Given the description of an element on the screen output the (x, y) to click on. 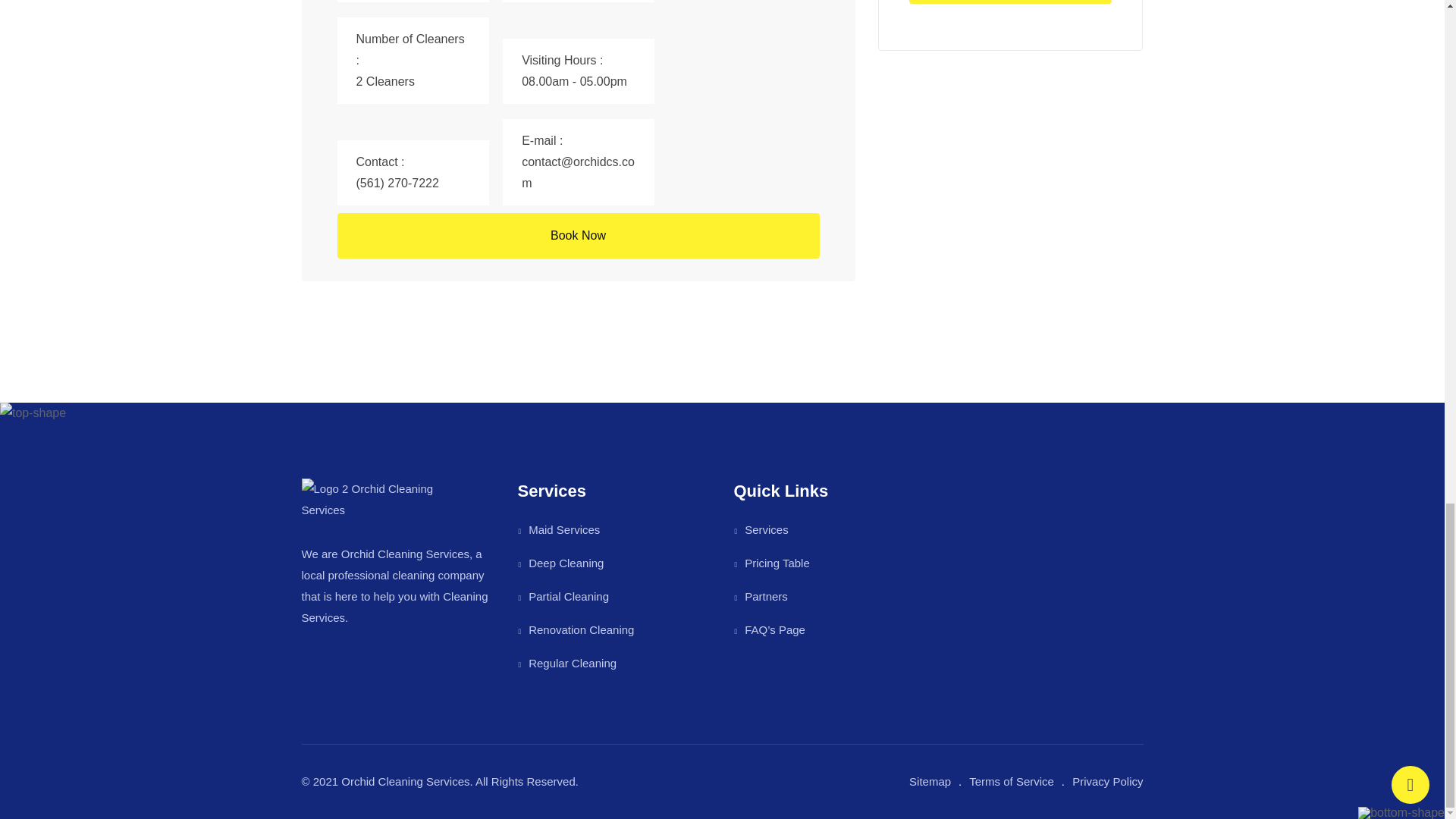
Send Message (1010, 2)
